Given the description of an element on the screen output the (x, y) to click on. 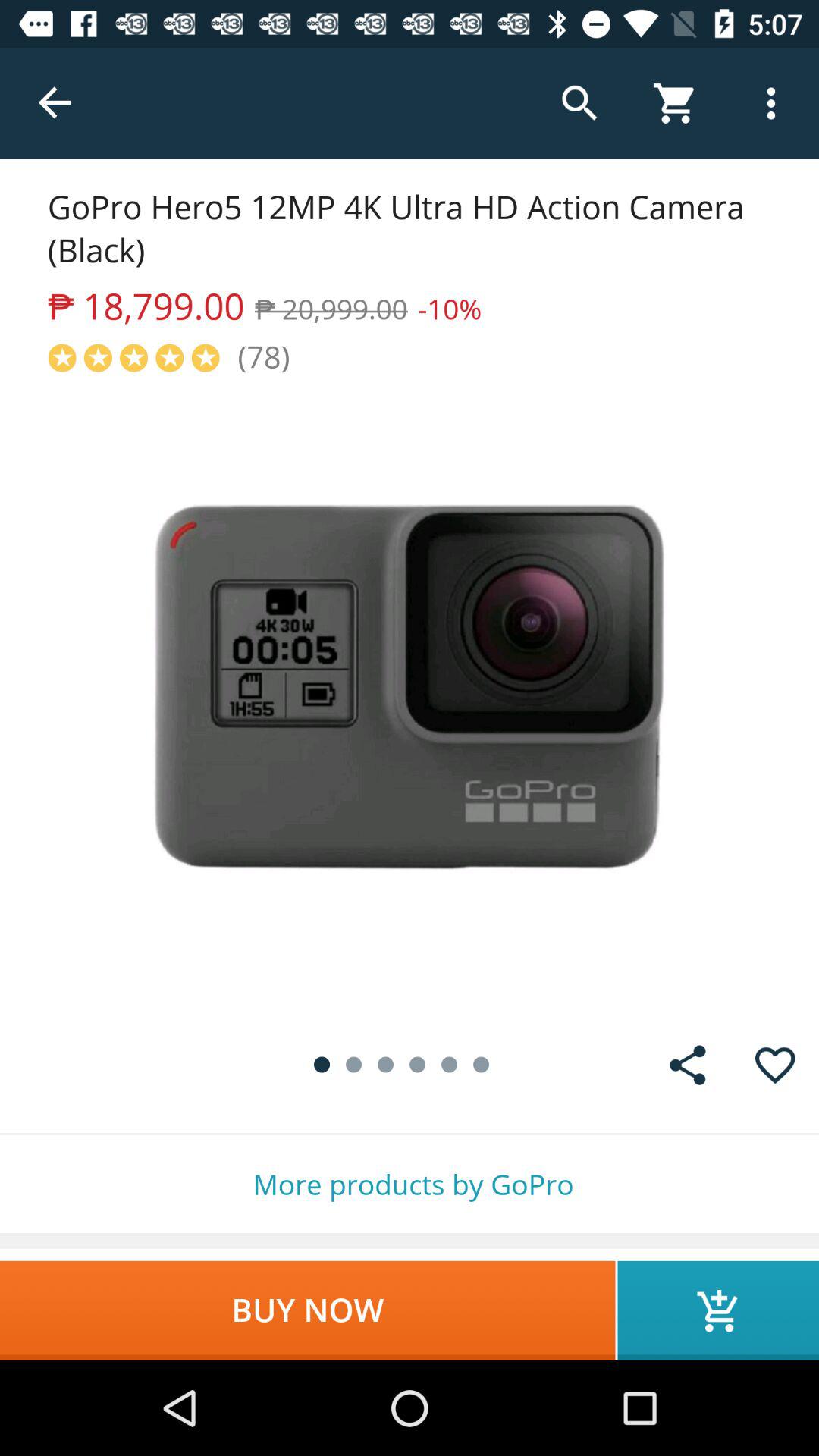
shows share button (687, 1065)
